Given the description of an element on the screen output the (x, y) to click on. 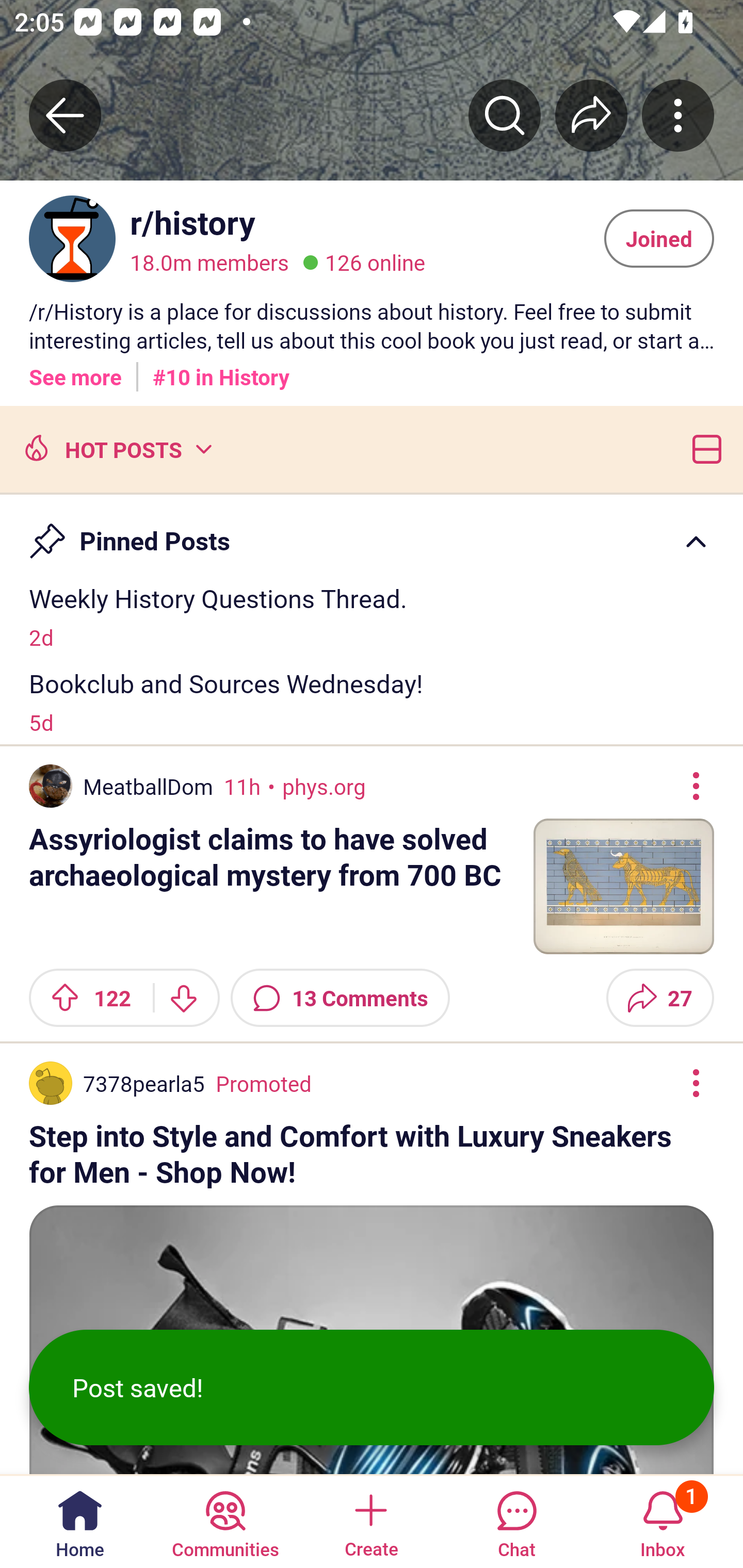
Back (64, 115)
Search r/﻿history (504, 115)
Share r/﻿history (591, 115)
More community actions (677, 115)
See more (74, 369)
#10 in History (221, 369)
Hot posts HOT POSTS (116, 448)
Card (703, 448)
Pin Pinned Posts Caret (371, 531)
Weekly History Questions Thread. 2d (371, 615)
Bookclub and Sources Wednesday! 5d (371, 701)
Home (80, 1520)
Communities (225, 1520)
Create a post Create (370, 1520)
Chat (516, 1520)
Inbox, has 1 notification 1 Inbox (662, 1520)
